Given the description of an element on the screen output the (x, y) to click on. 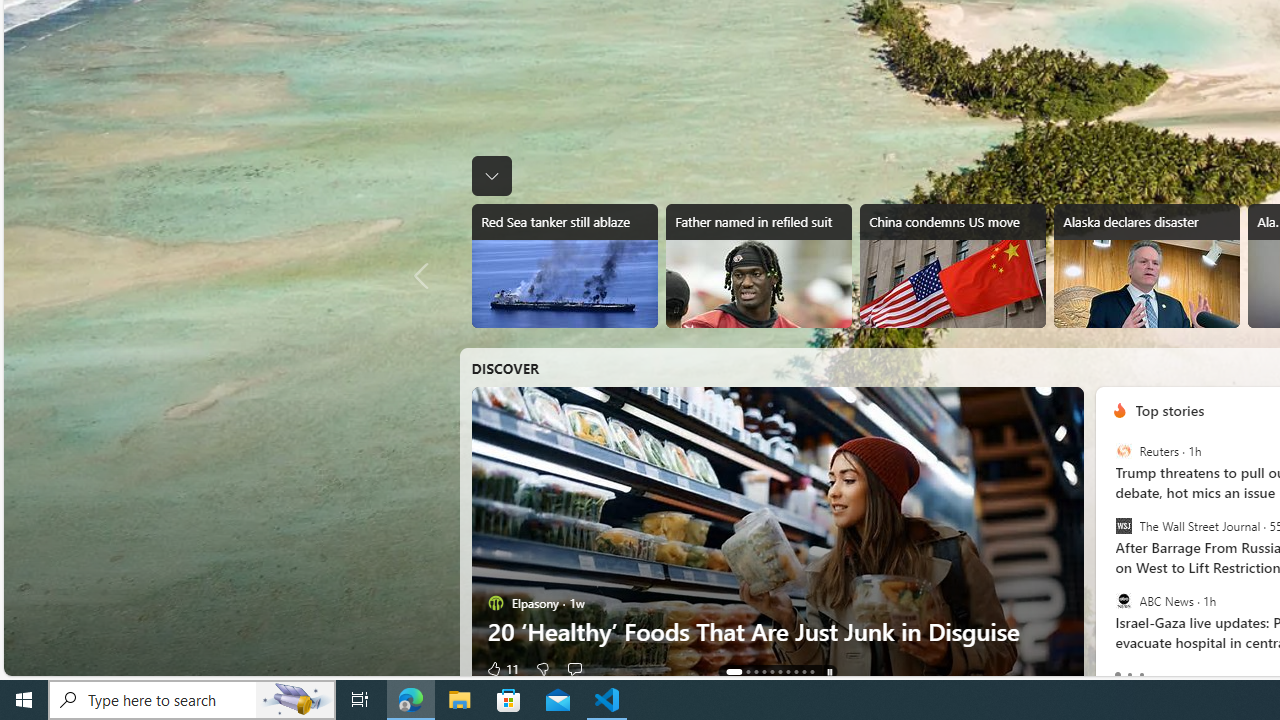
previous (1104, 538)
AutomationID: tab-6 (787, 671)
Previous news (425, 275)
tab-2 (1141, 674)
